Given the description of an element on the screen output the (x, y) to click on. 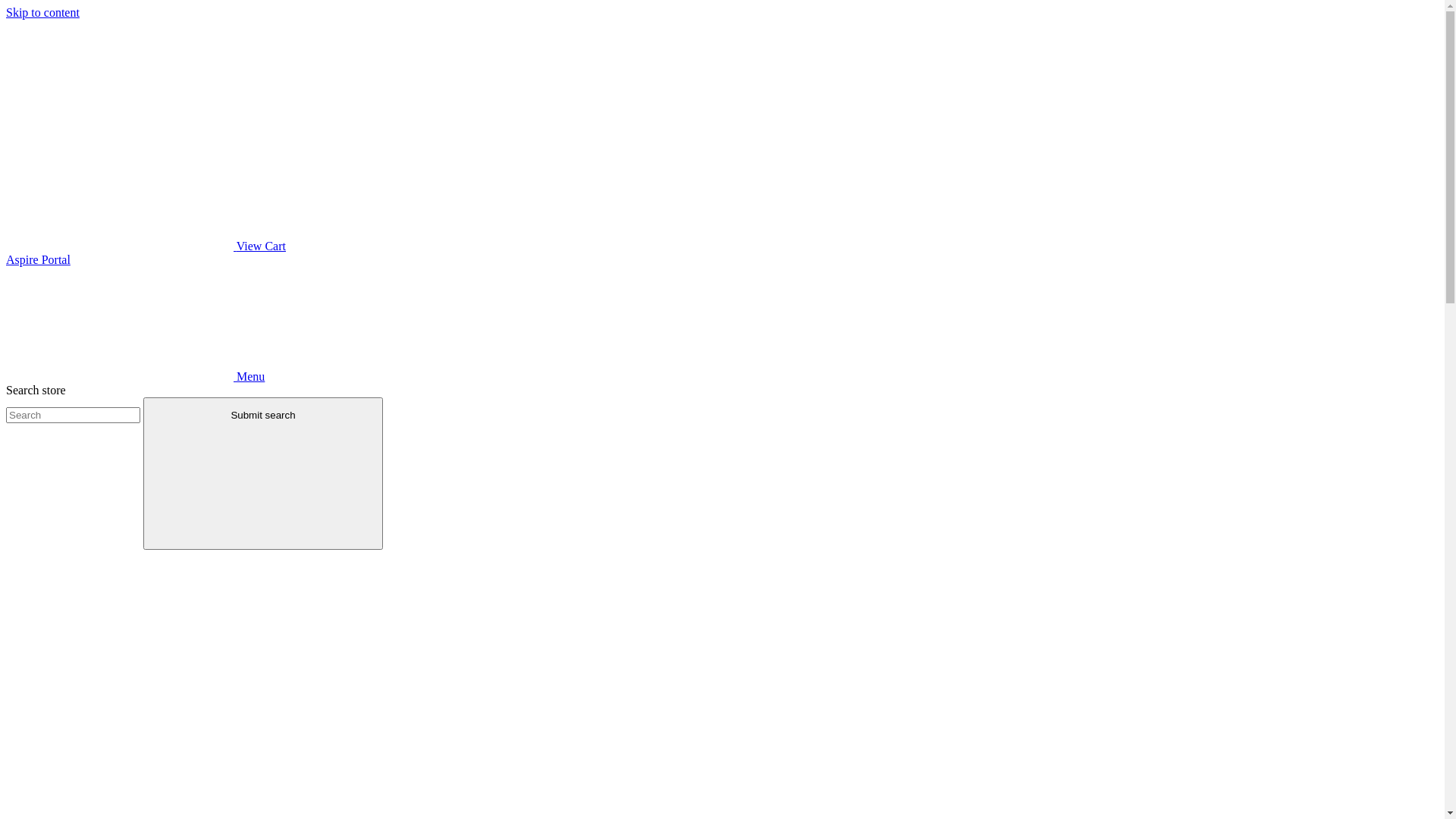
Aspire Portal Element type: text (38, 259)
Submit search Element type: text (262, 473)
View Cart Element type: text (145, 245)
Skip to content Element type: text (42, 12)
Menu Element type: text (135, 376)
My Account Element type: text (1404, 259)
